Given the description of an element on the screen output the (x, y) to click on. 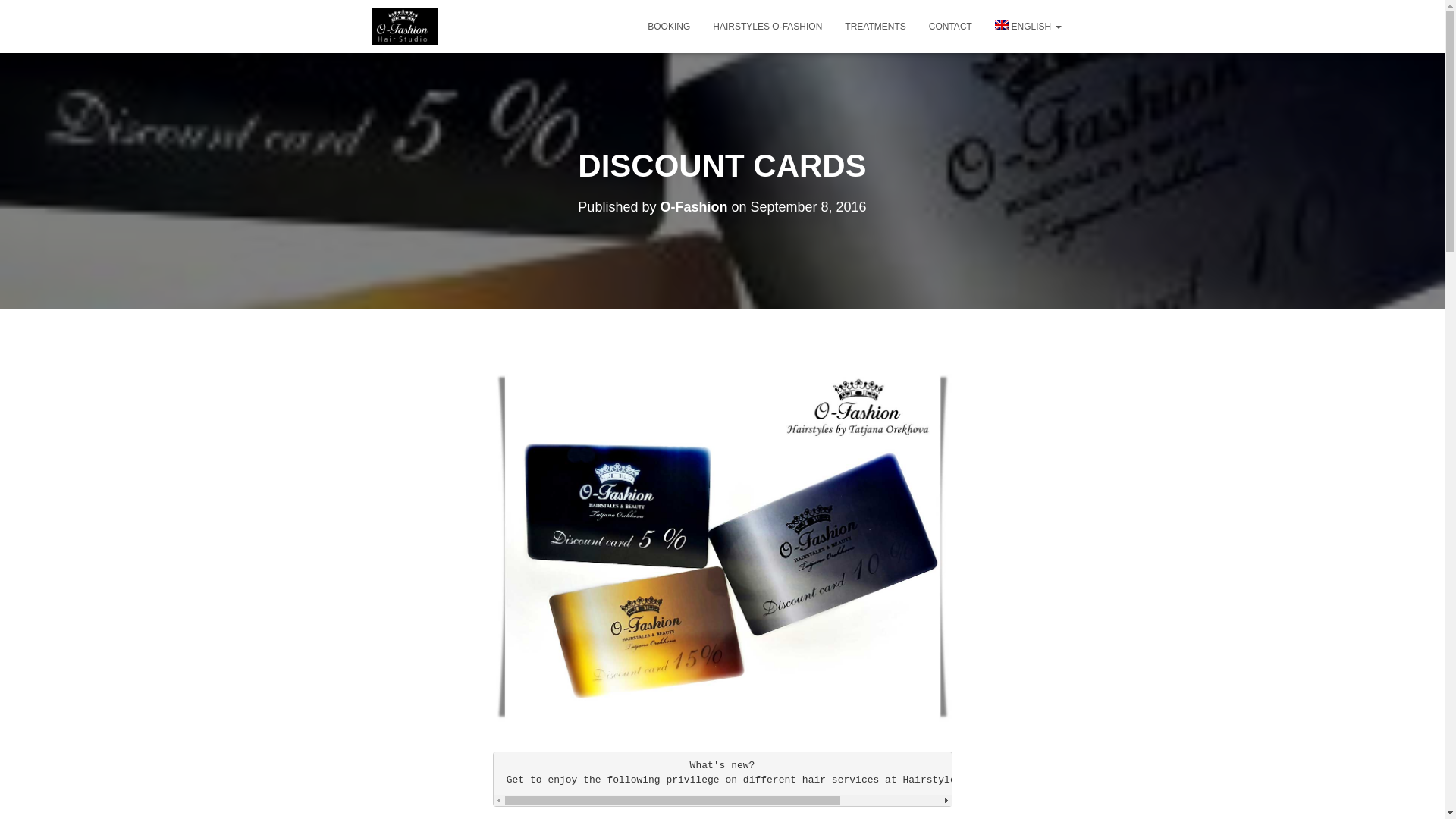
Hairstyles O-Fashion (766, 26)
TREATMENTS (874, 26)
English (1028, 26)
HAIRSTYLES O-FASHION (766, 26)
Booking (668, 26)
Treatments (874, 26)
CONTACT (950, 26)
Contact (950, 26)
ENGLISH (1028, 26)
O-Fashion (692, 206)
